Given the description of an element on the screen output the (x, y) to click on. 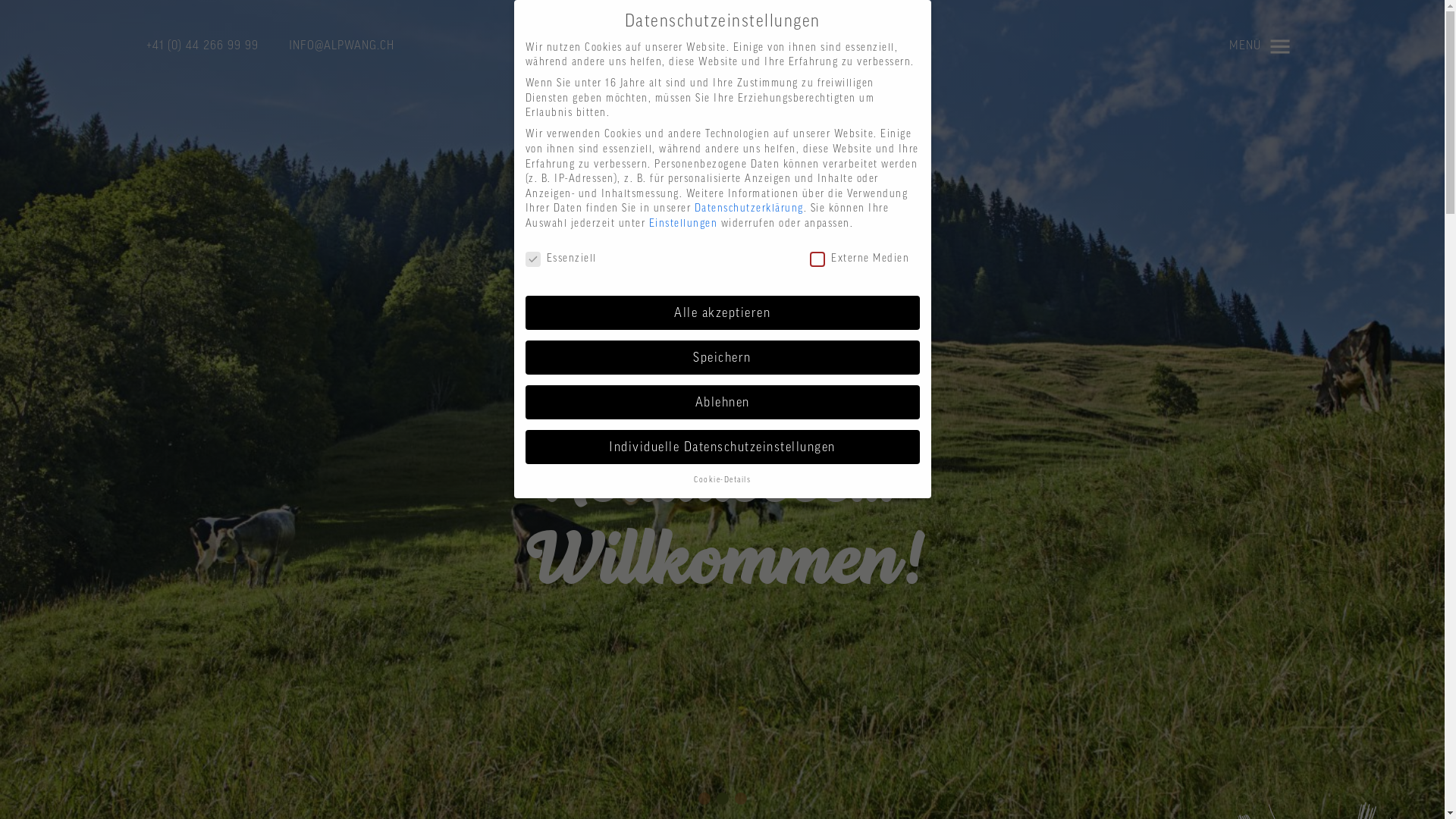
Einstellungen Element type: text (683, 223)
INFO@ALPWANG.CH Element type: text (340, 45)
Individuelle Datenschutzeinstellungen Element type: text (721, 446)
Cookie-Details Element type: text (721, 478)
Alle akzeptieren Element type: text (721, 312)
+41 (0) 44 266 99 99 Element type: text (201, 45)
Logo Element type: hover (721, 45)
Speichern Element type: text (721, 357)
Ablehnen Element type: text (721, 402)
